Given the description of an element on the screen output the (x, y) to click on. 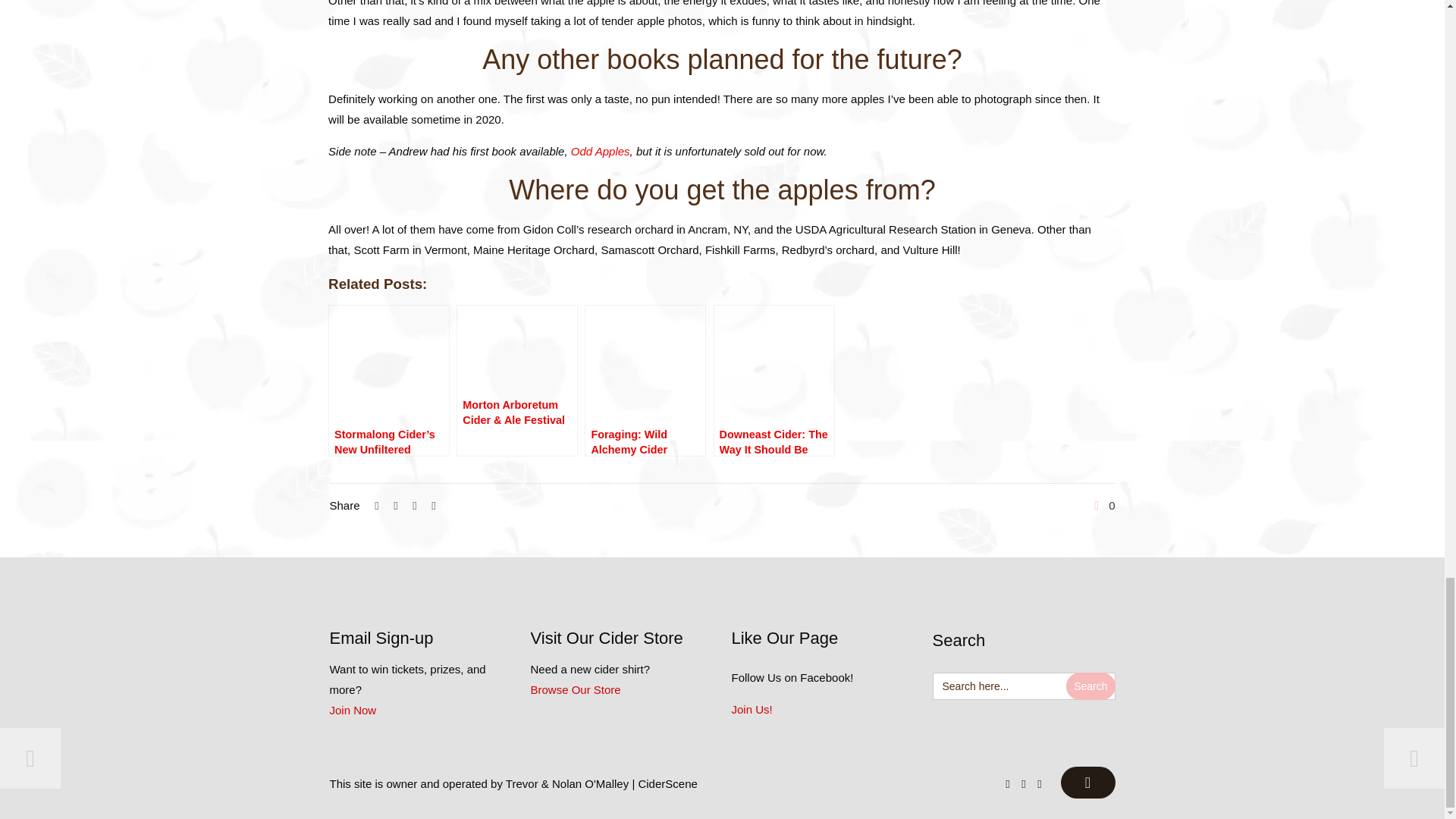
Search (1090, 686)
Search (1090, 686)
